Given the description of an element on the screen output the (x, y) to click on. 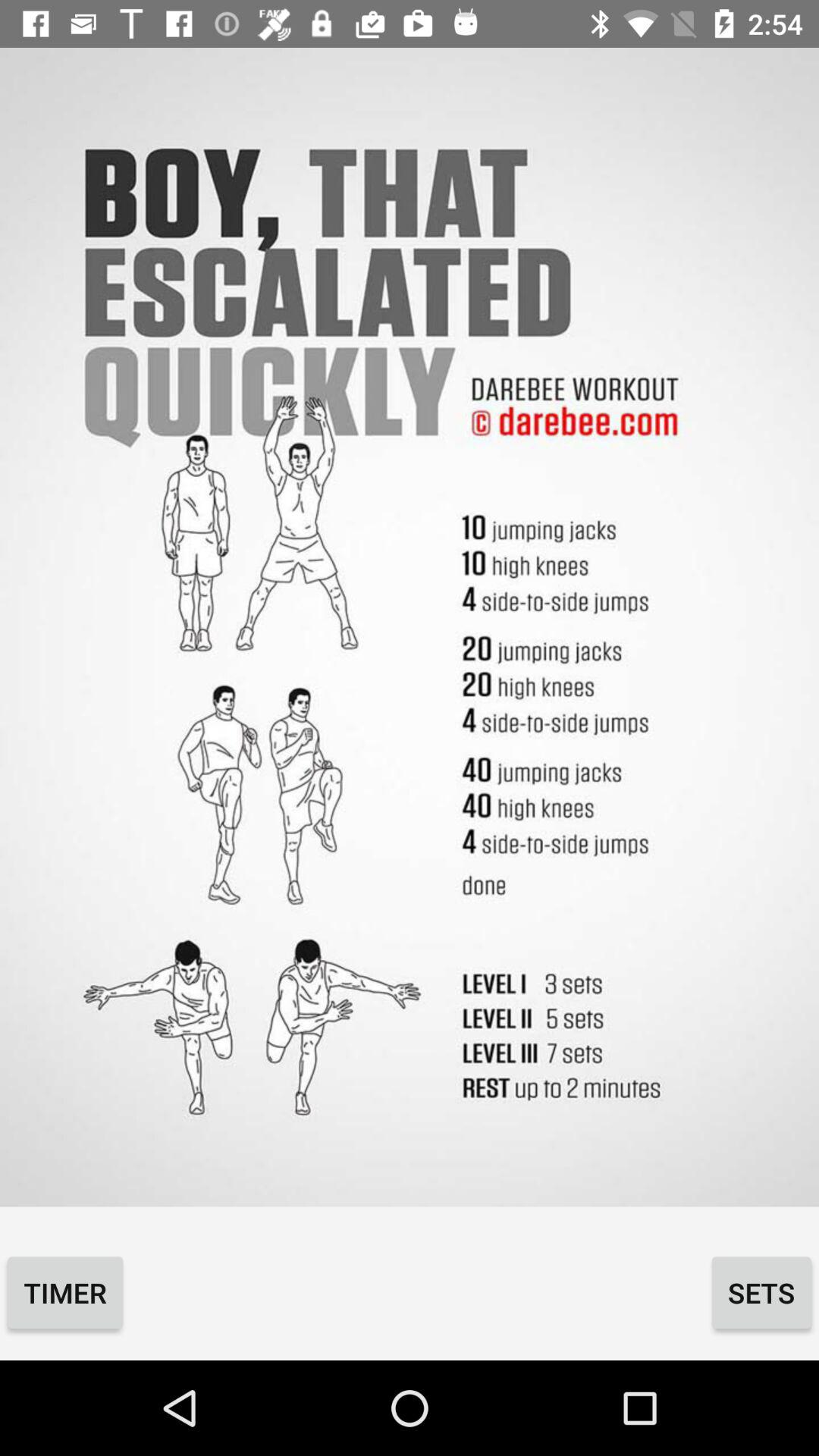
open item next to the sets icon (65, 1292)
